Given the description of an element on the screen output the (x, y) to click on. 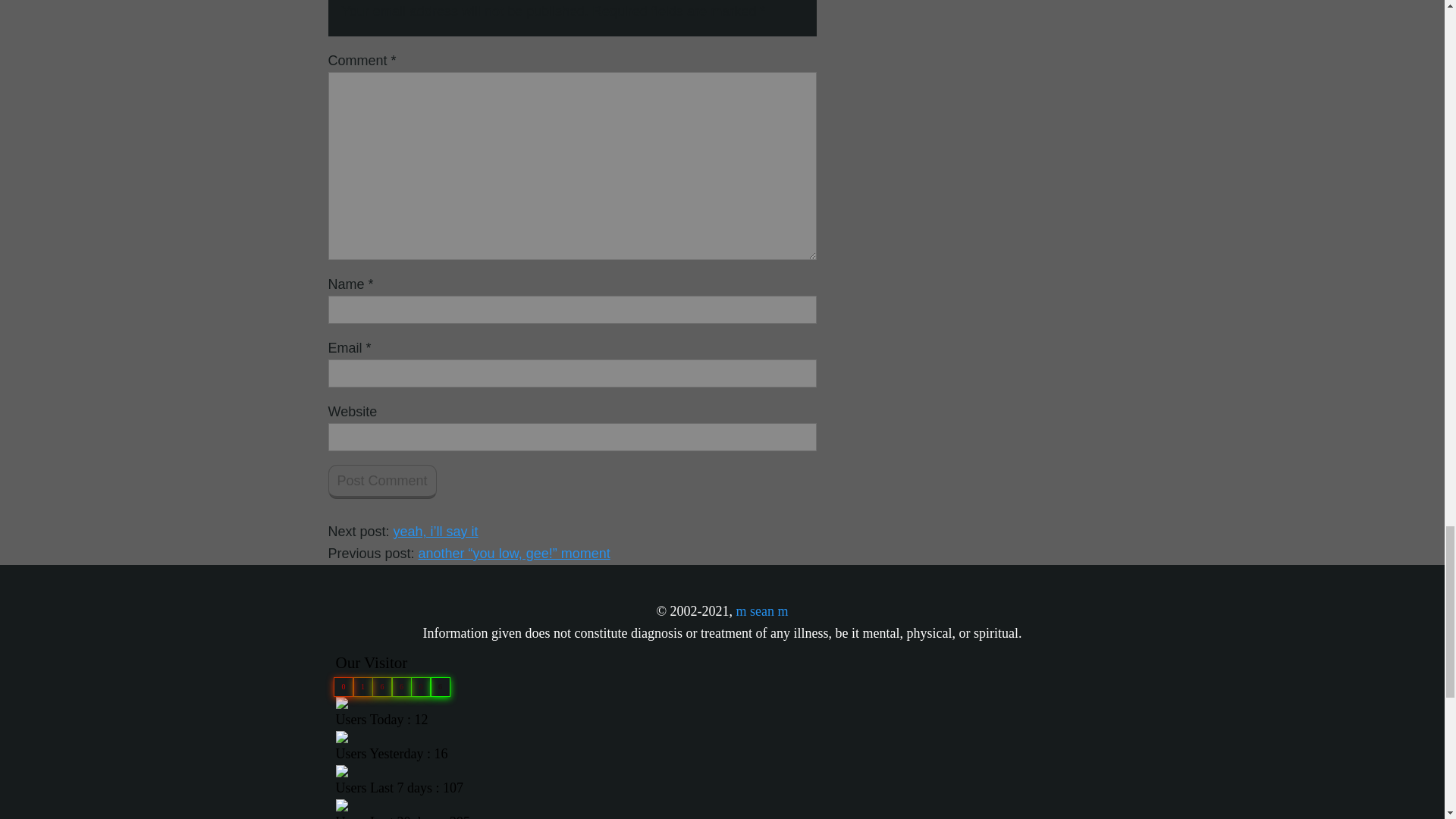
Post Comment (381, 481)
Post Comment (381, 481)
m sean m (762, 611)
